Given the description of an element on the screen output the (x, y) to click on. 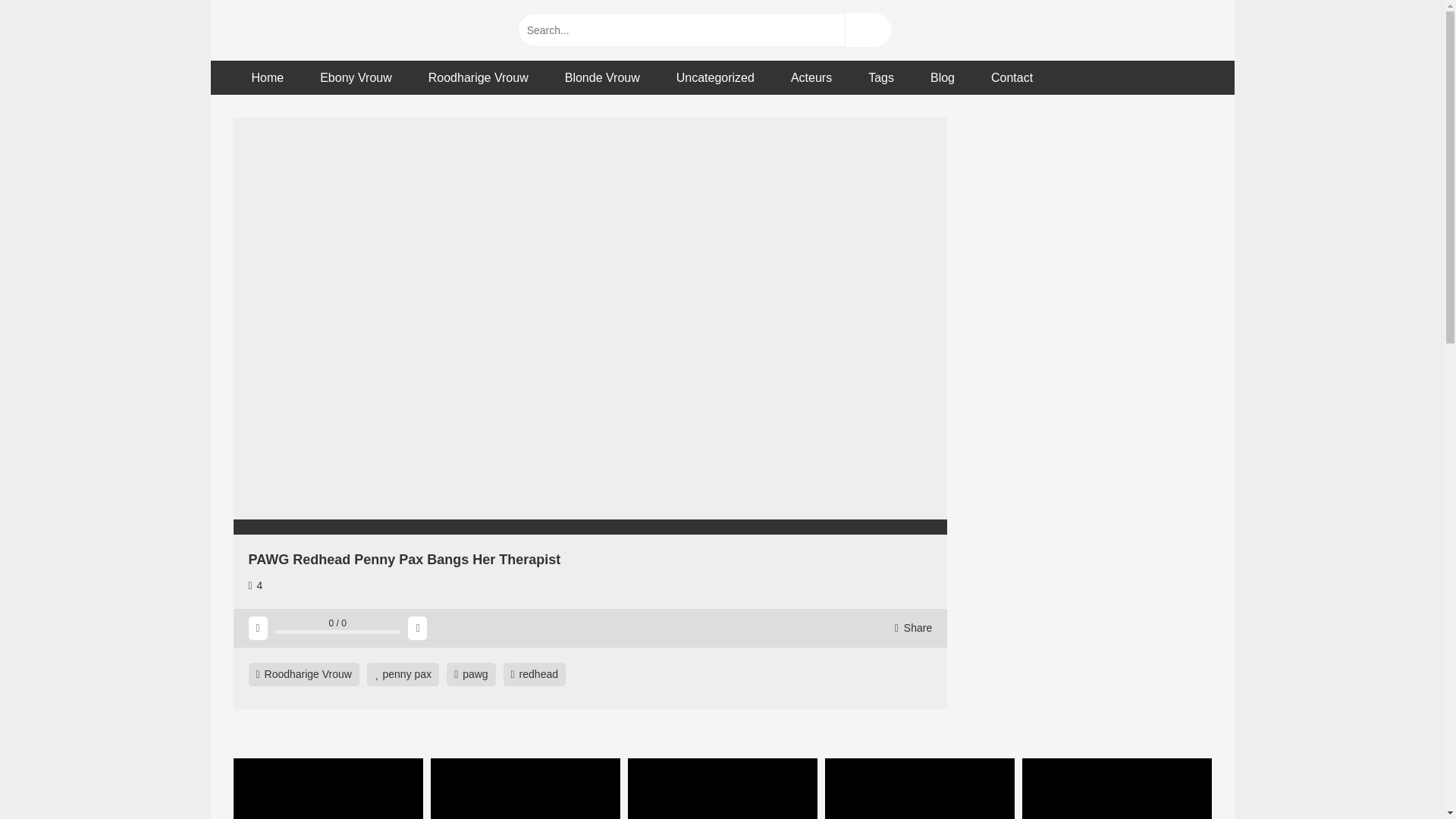
Ebony Vrouw (355, 77)
Tags (881, 77)
redhead (534, 674)
Blog (942, 77)
Contact (1011, 77)
Blonde Vrouw (919, 788)
Solo Redhead Romanian MILF (602, 77)
